Given the description of an element on the screen output the (x, y) to click on. 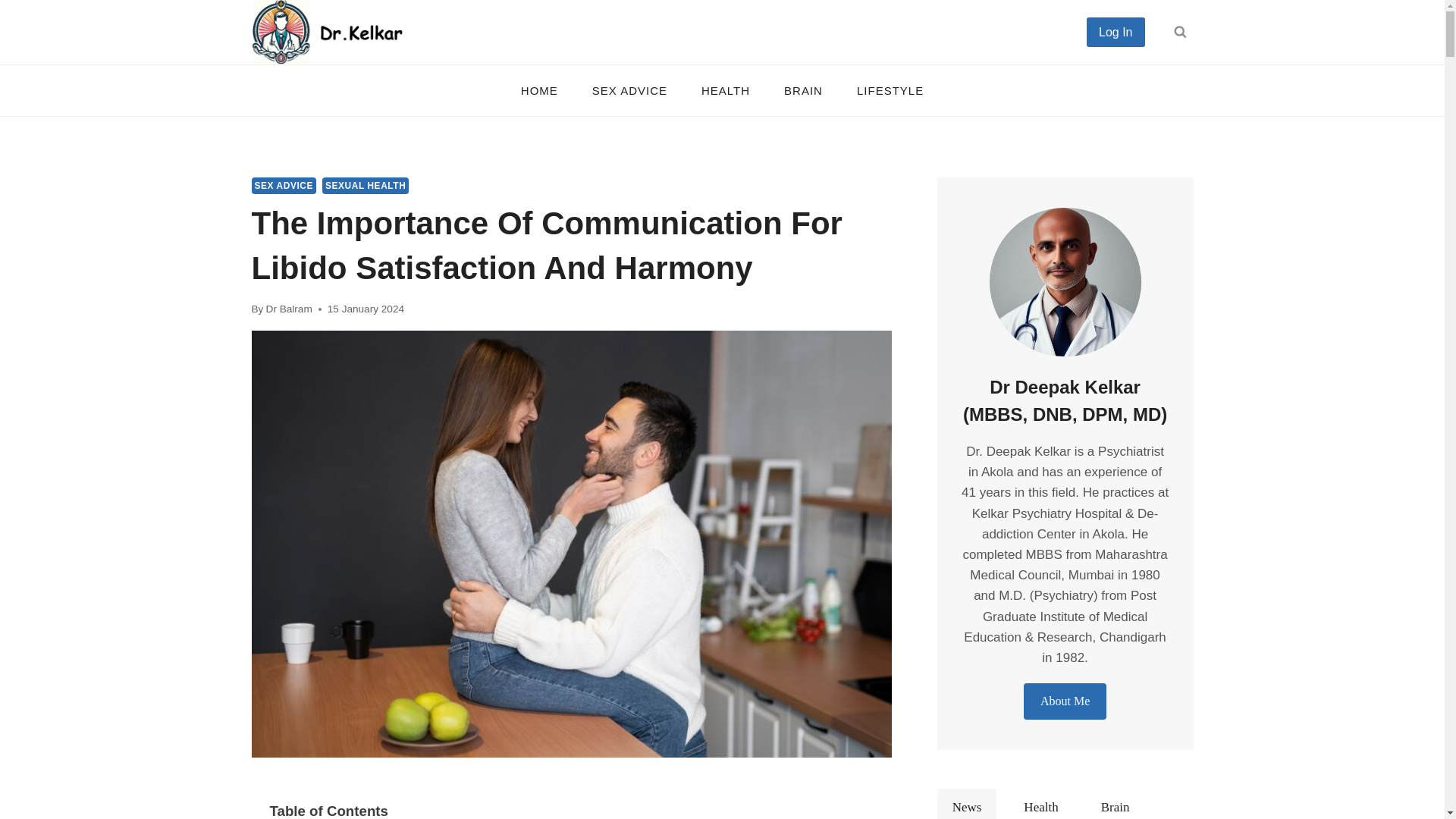
SEX ADVICE (284, 185)
BRAIN (803, 90)
HEALTH (725, 90)
SEXUAL HEALTH (365, 185)
HOME (539, 90)
Log In (1115, 31)
Dr Balram (289, 308)
LIFESTYLE (890, 90)
SEX ADVICE (629, 90)
